Given the description of an element on the screen output the (x, y) to click on. 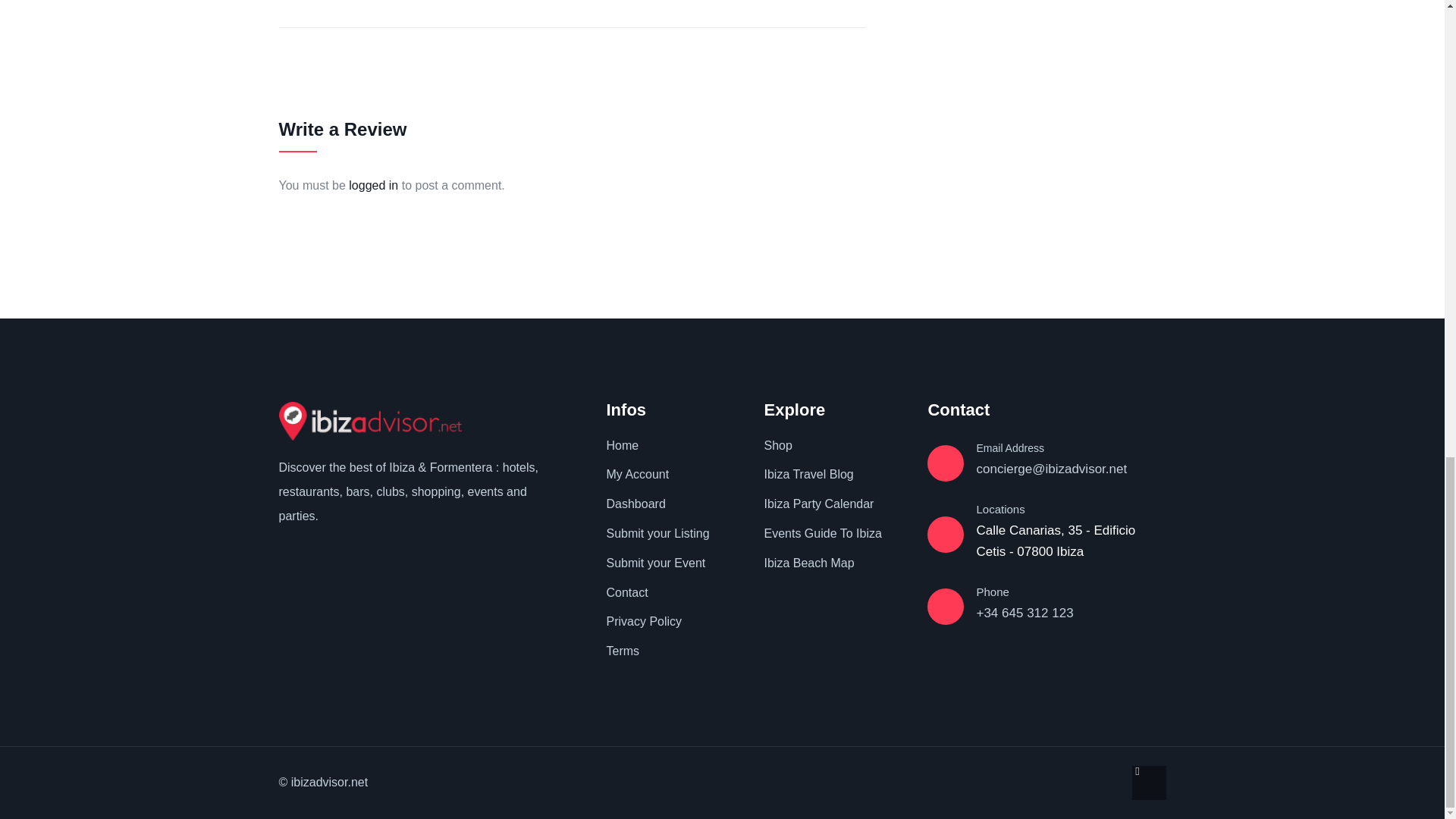
Home (370, 421)
